Given the description of an element on the screen output the (x, y) to click on. 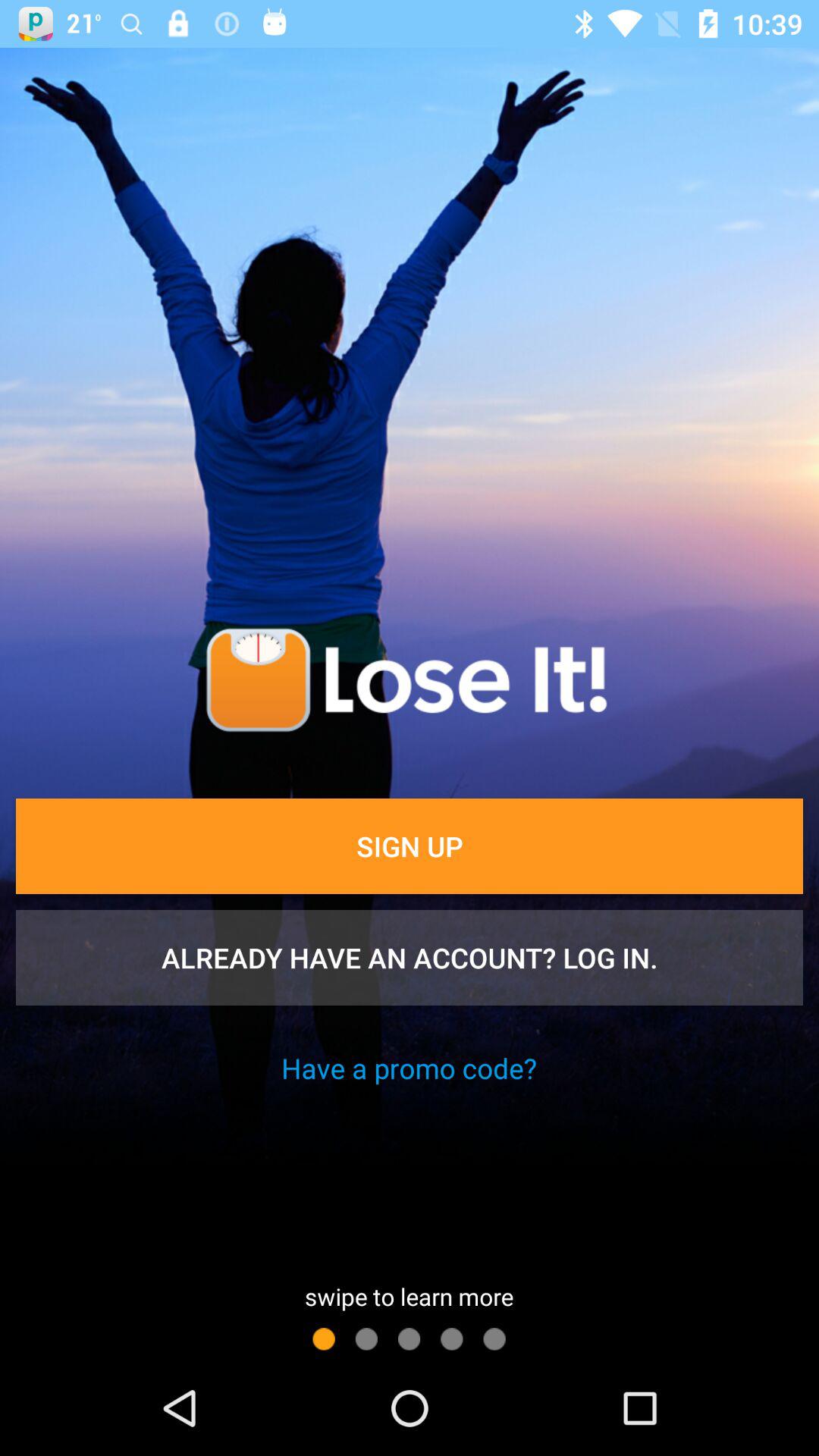
launch the icon above swipe to learn item (408, 1067)
